Given the description of an element on the screen output the (x, y) to click on. 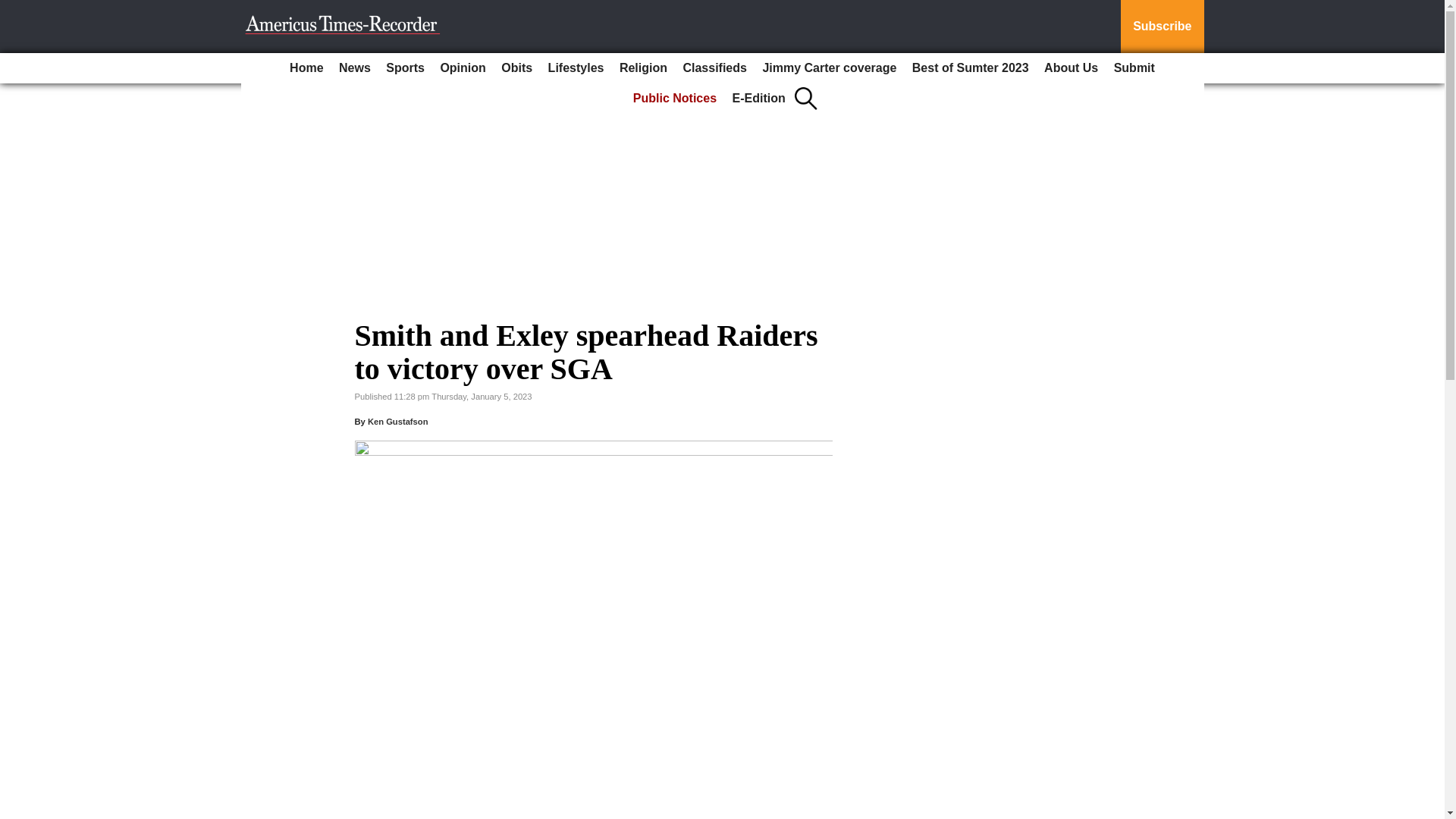
Sports (405, 68)
Ken Gustafson (398, 420)
Home (306, 68)
About Us (1070, 68)
Obits (516, 68)
Opinion (462, 68)
Submit (1134, 68)
Classifieds (714, 68)
News (355, 68)
Religion (642, 68)
